Given the description of an element on the screen output the (x, y) to click on. 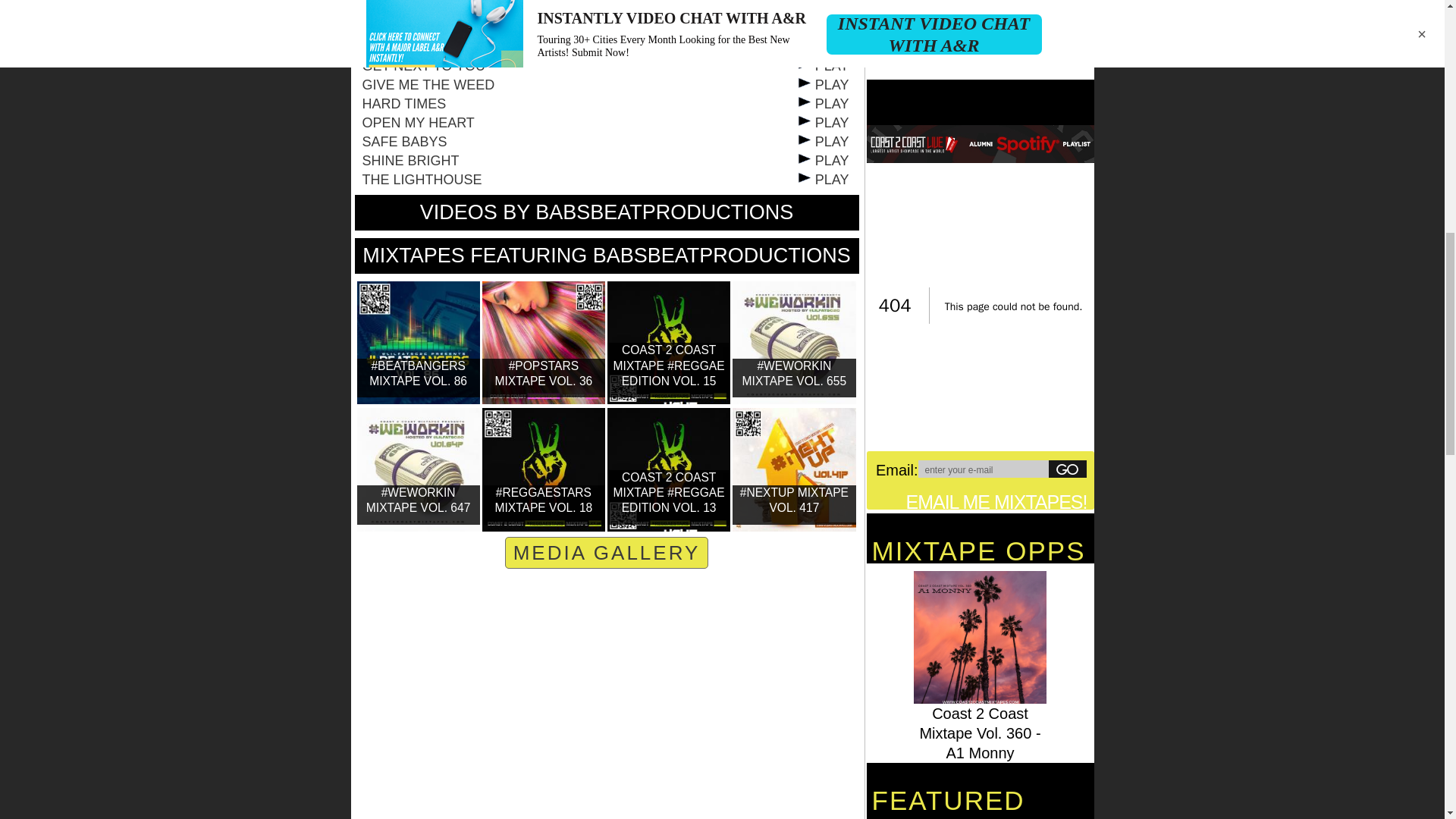
GET NEXT TO YOU (423, 65)
go (1067, 468)
FLY AWAY (395, 46)
PLAY (822, 8)
DOWN FOR MY CITY (429, 28)
PLAY (822, 46)
enter your e-mail (982, 468)
PLAY (822, 28)
